Given the description of an element on the screen output the (x, y) to click on. 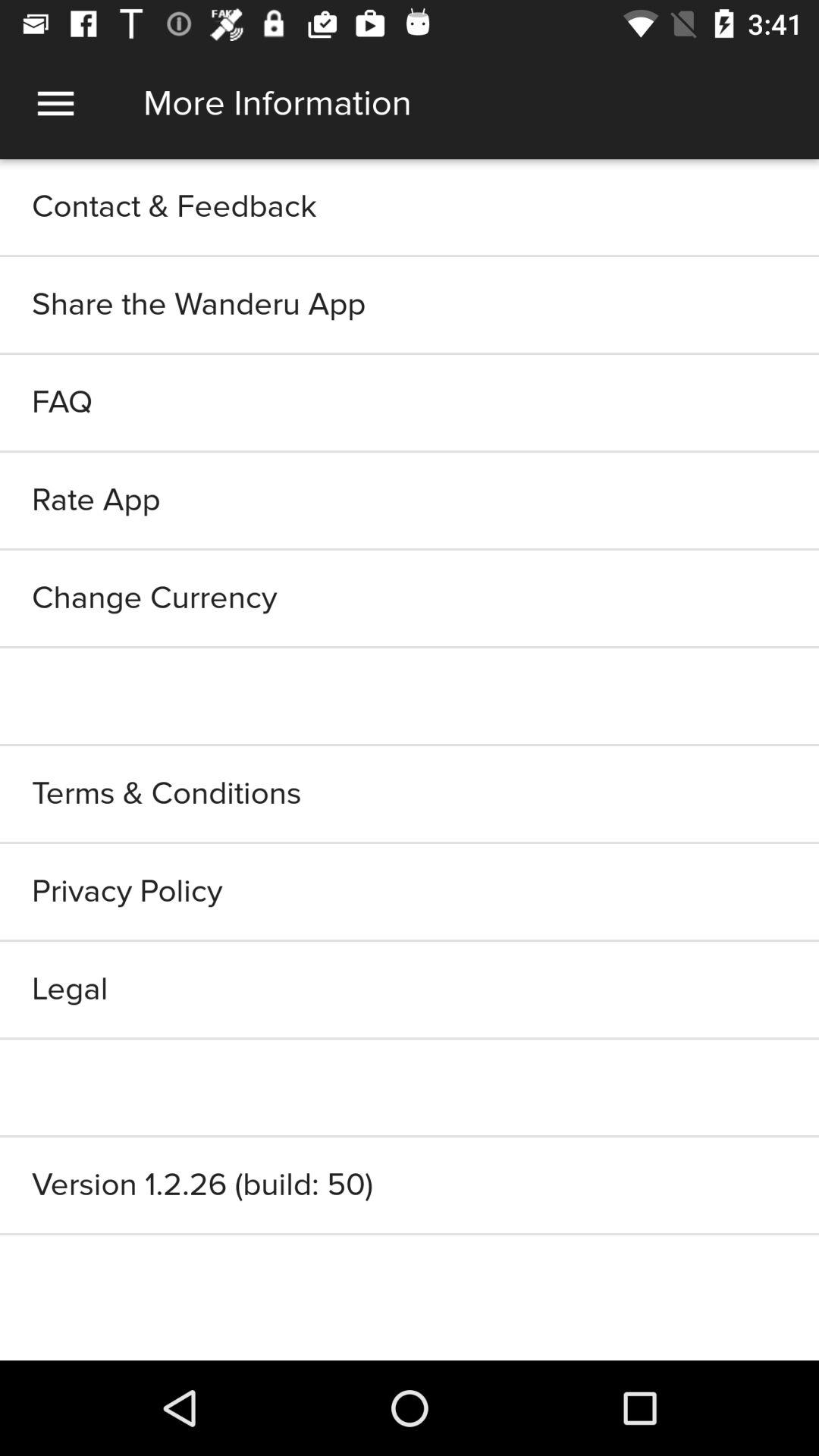
scroll to privacy policy (409, 891)
